Given the description of an element on the screen output the (x, y) to click on. 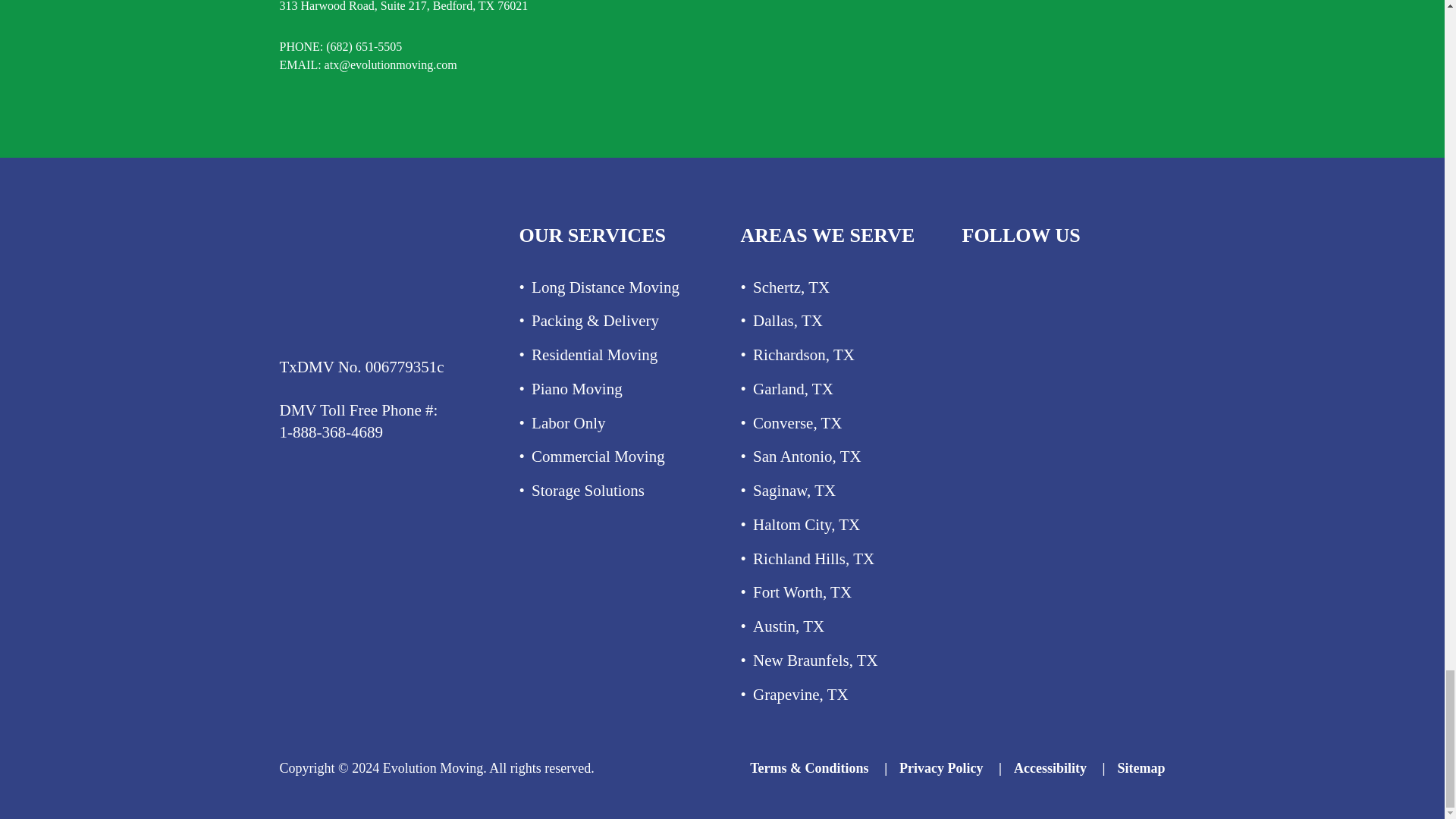
Logo (370, 275)
